Given the description of an element on the screen output the (x, y) to click on. 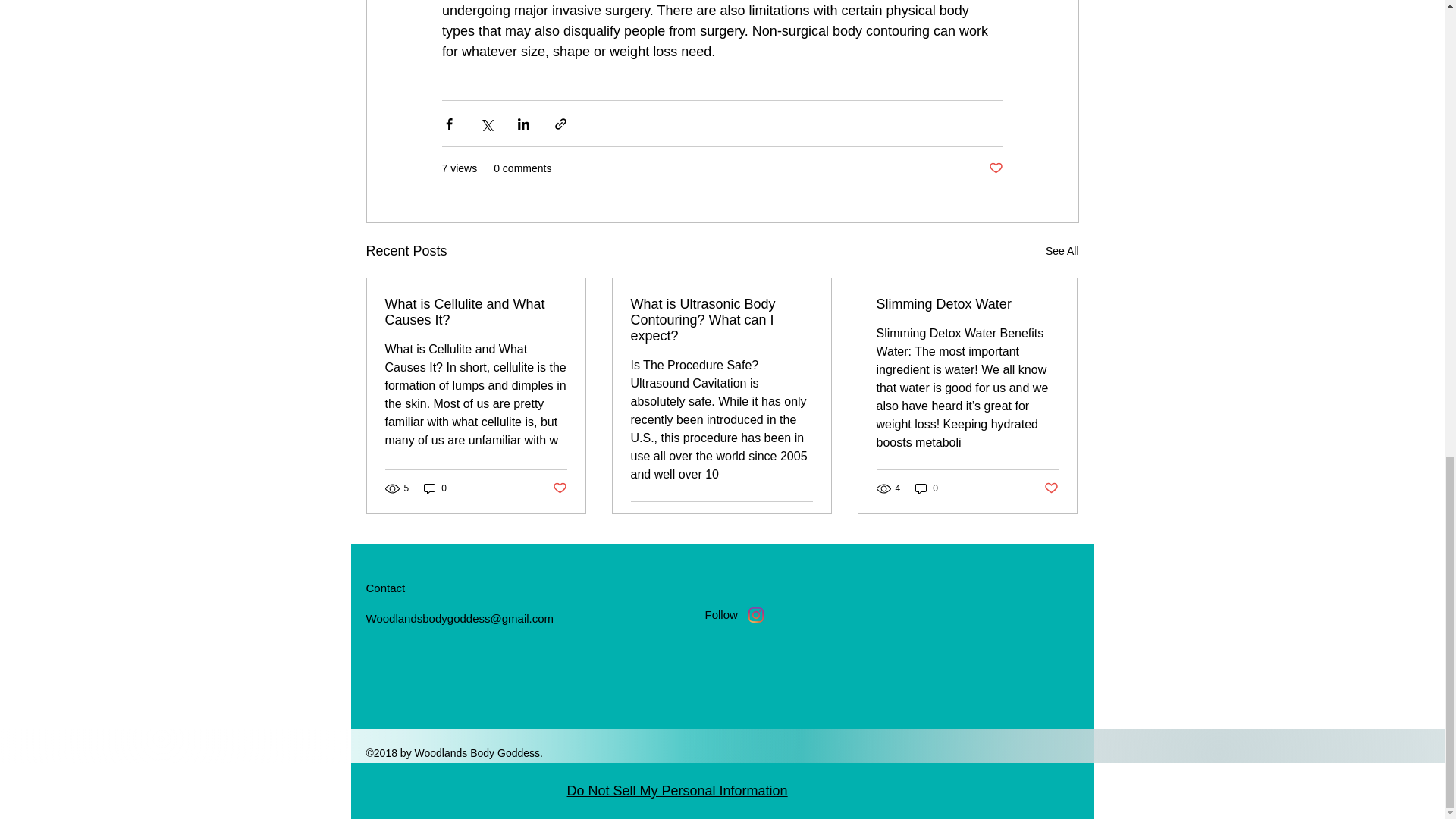
See All (1061, 251)
Post not marked as liked (995, 168)
0 (435, 488)
Post not marked as liked (558, 487)
Do Not Sell My Personal Information (677, 791)
0 (926, 488)
Slimming Detox Water (967, 304)
Post not marked as liked (804, 519)
What is Cellulite and What Causes It? (476, 312)
Post not marked as liked (1050, 487)
What is Ultrasonic Body Contouring? What can I expect? (721, 319)
